Given the description of an element on the screen output the (x, y) to click on. 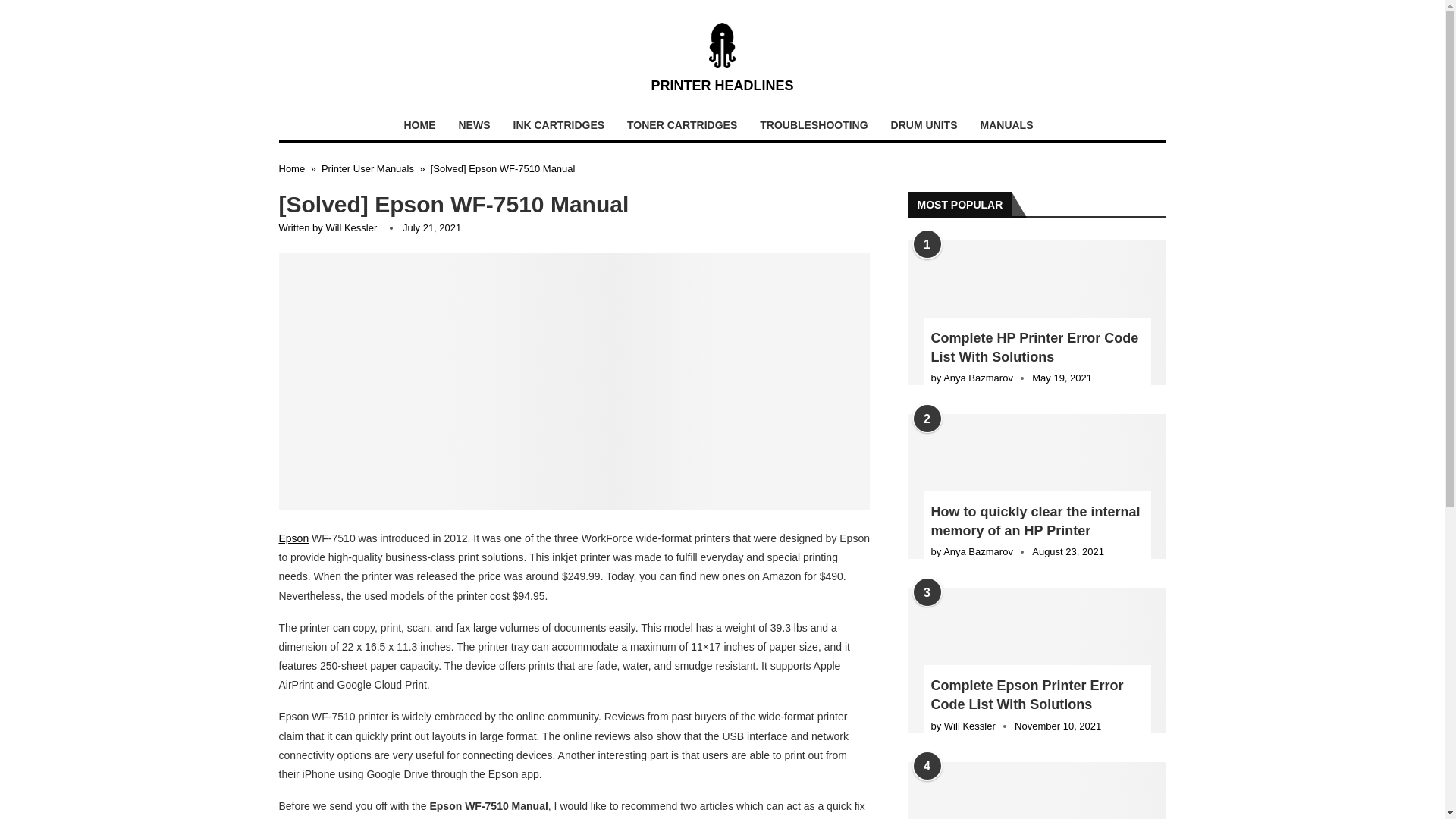
Complete Epson Printer Error Code List With Solutions (1036, 695)
PRINTER HEADLINES (721, 58)
Will Kessler (350, 227)
How to quickly clear the internal memory of an HP Printer (1037, 486)
Printer User Manuals (367, 168)
DRUM UNITS (924, 124)
How to quickly clear the internal memory of an HP Printer (1036, 521)
INK CARTRIDGES (558, 124)
Complete HP Printer Error Code List With Solutions (1037, 312)
Complete Epson Printer Error Code List With Solutions (1037, 660)
